Given the description of an element on the screen output the (x, y) to click on. 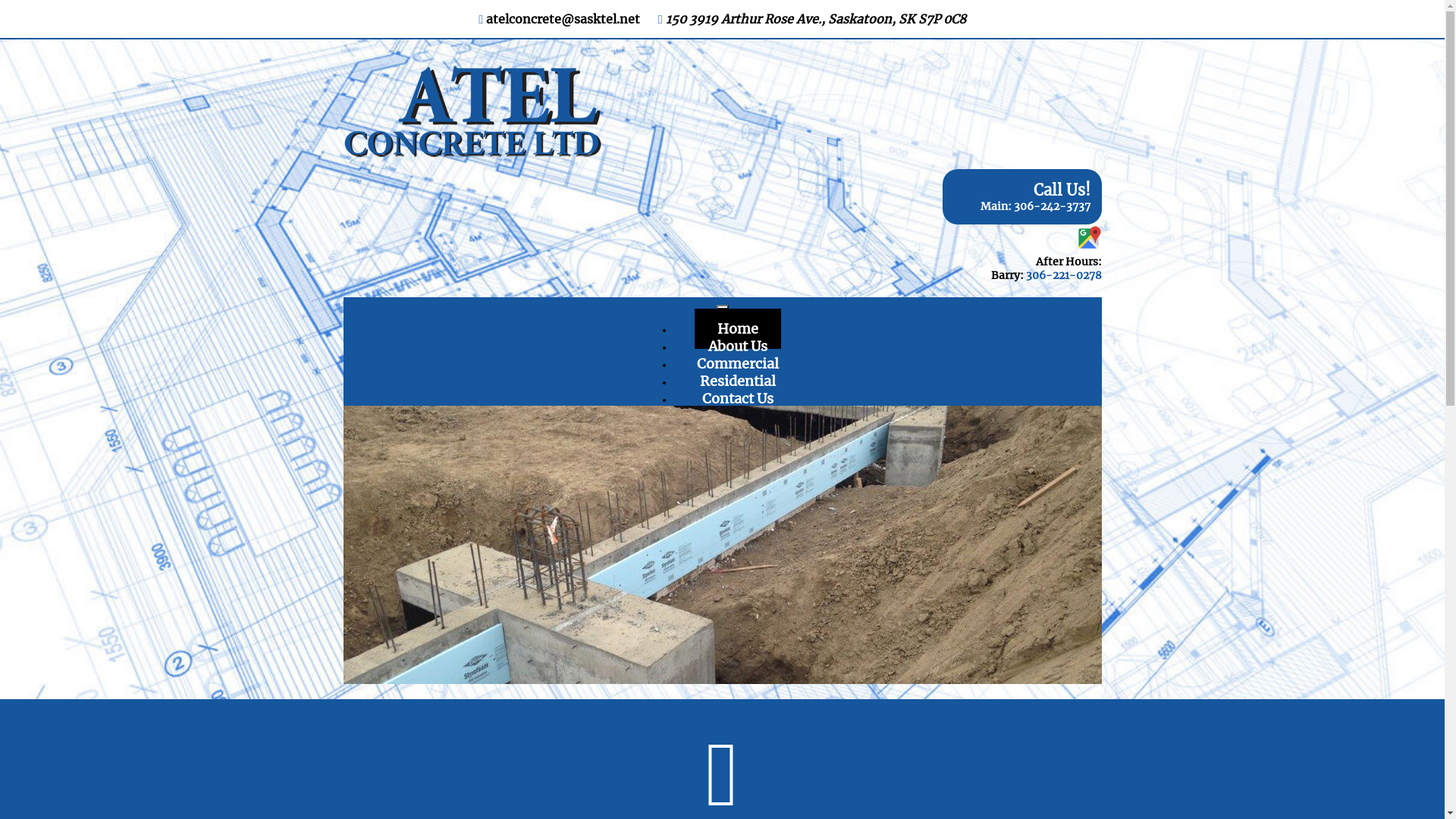
Commercial Element type: text (736, 363)
Contact Us Element type: text (737, 398)
306-221-0278 Element type: text (1063, 275)
Residential Element type: text (736, 380)
306-242-3737 Element type: text (1051, 206)
Home Element type: text (737, 328)
Atel Concrete Ltd Element type: hover (471, 110)
About Us Element type: text (737, 346)
atelconcrete@sasktel.net Element type: text (563, 18)
